Given the description of an element on the screen output the (x, y) to click on. 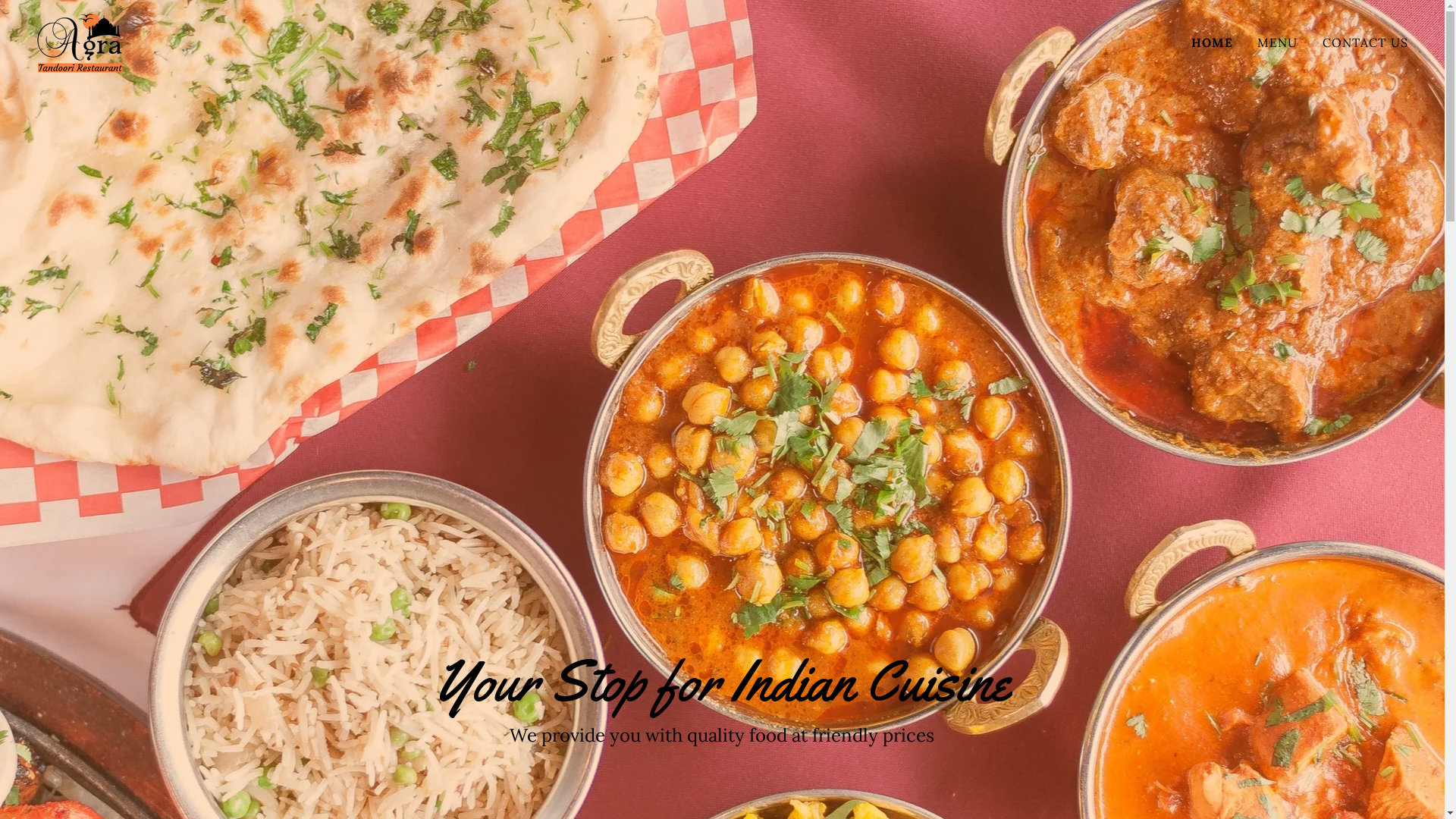
CONTACT US Element type: text (1364, 42)
MENU Element type: text (1277, 42)
Agra Tandoori Express Element type: hover (79, 40)
HOME Element type: text (1212, 42)
